Given the description of an element on the screen output the (x, y) to click on. 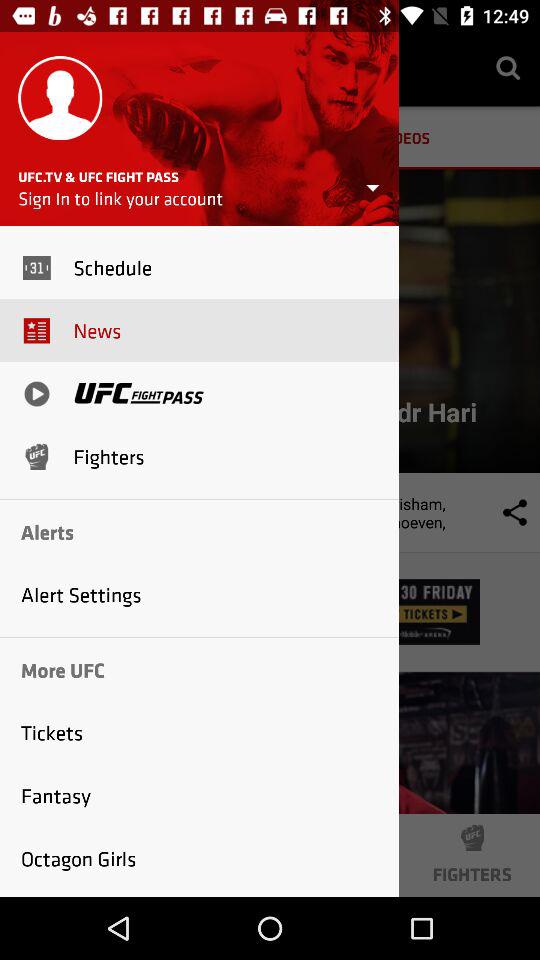
select the symbol which is to the left of ufc fight pass (36, 393)
go to ufc fight pass (139, 393)
